Given the description of an element on the screen output the (x, y) to click on. 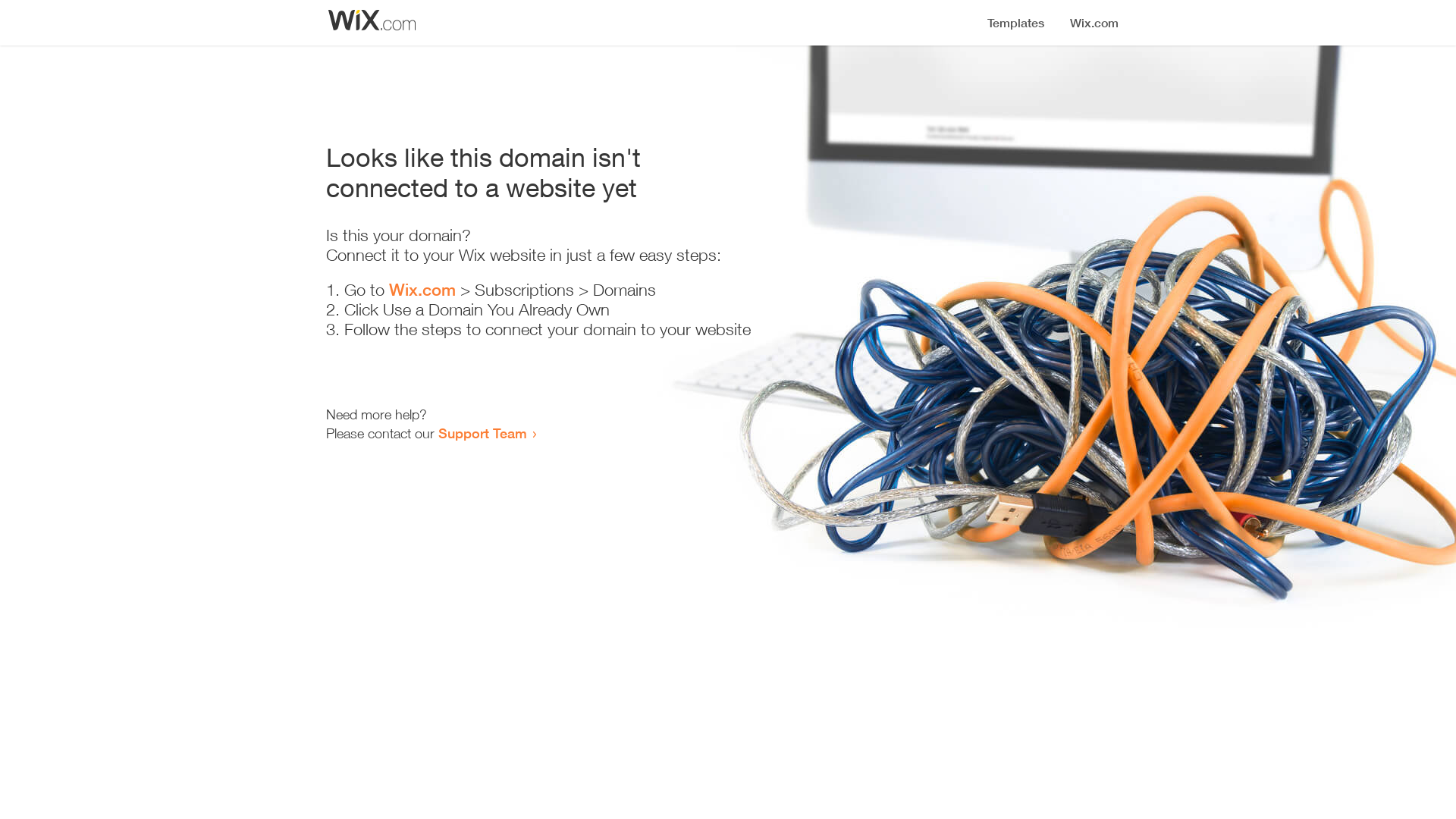
Support Team Element type: text (482, 432)
Wix.com Element type: text (422, 289)
